Given the description of an element on the screen output the (x, y) to click on. 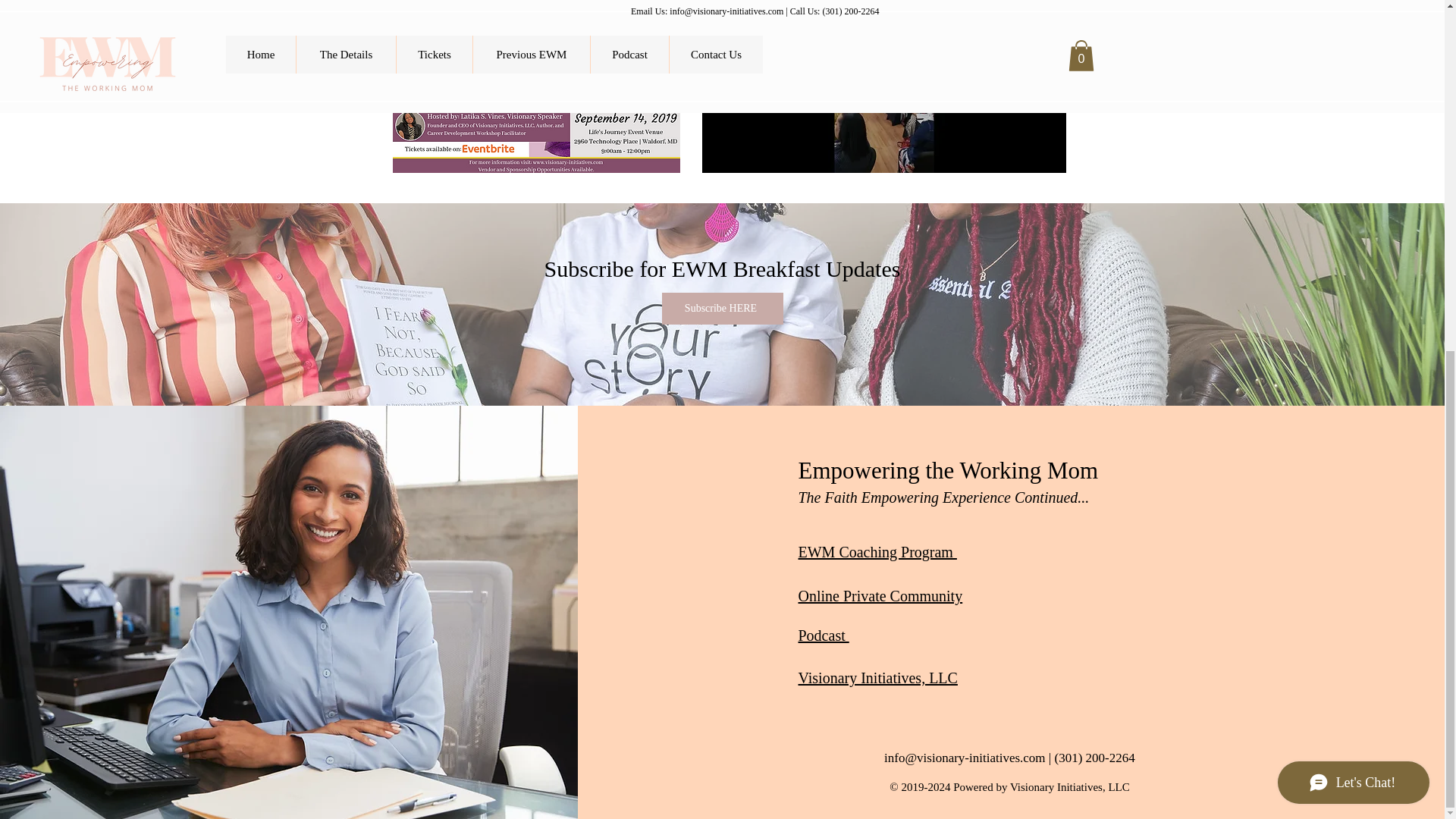
Subscribe HERE (722, 308)
EWM Coaching Program  (876, 551)
Podcast  (822, 635)
Online Private Community (879, 596)
Visionary Initiatives, LLC (876, 677)
